Given the description of an element on the screen output the (x, y) to click on. 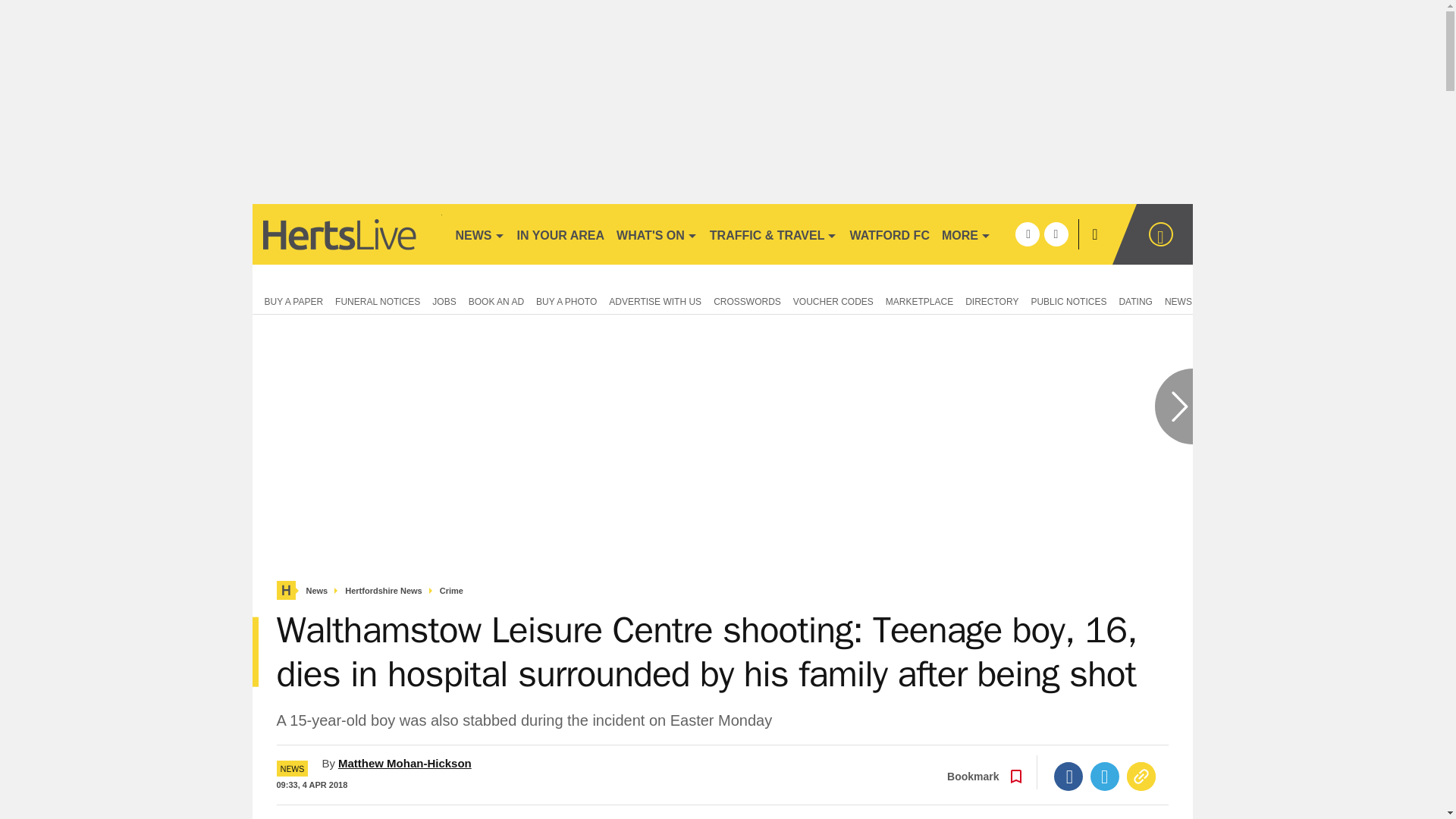
Facebook (1068, 776)
MORE (966, 233)
Twitter (1104, 776)
twitter (1055, 233)
hertfordshiremercury (346, 233)
IN YOUR AREA (561, 233)
facebook (1026, 233)
NEWS (479, 233)
WATFORD FC (888, 233)
WHAT'S ON (656, 233)
